Given the description of an element on the screen output the (x, y) to click on. 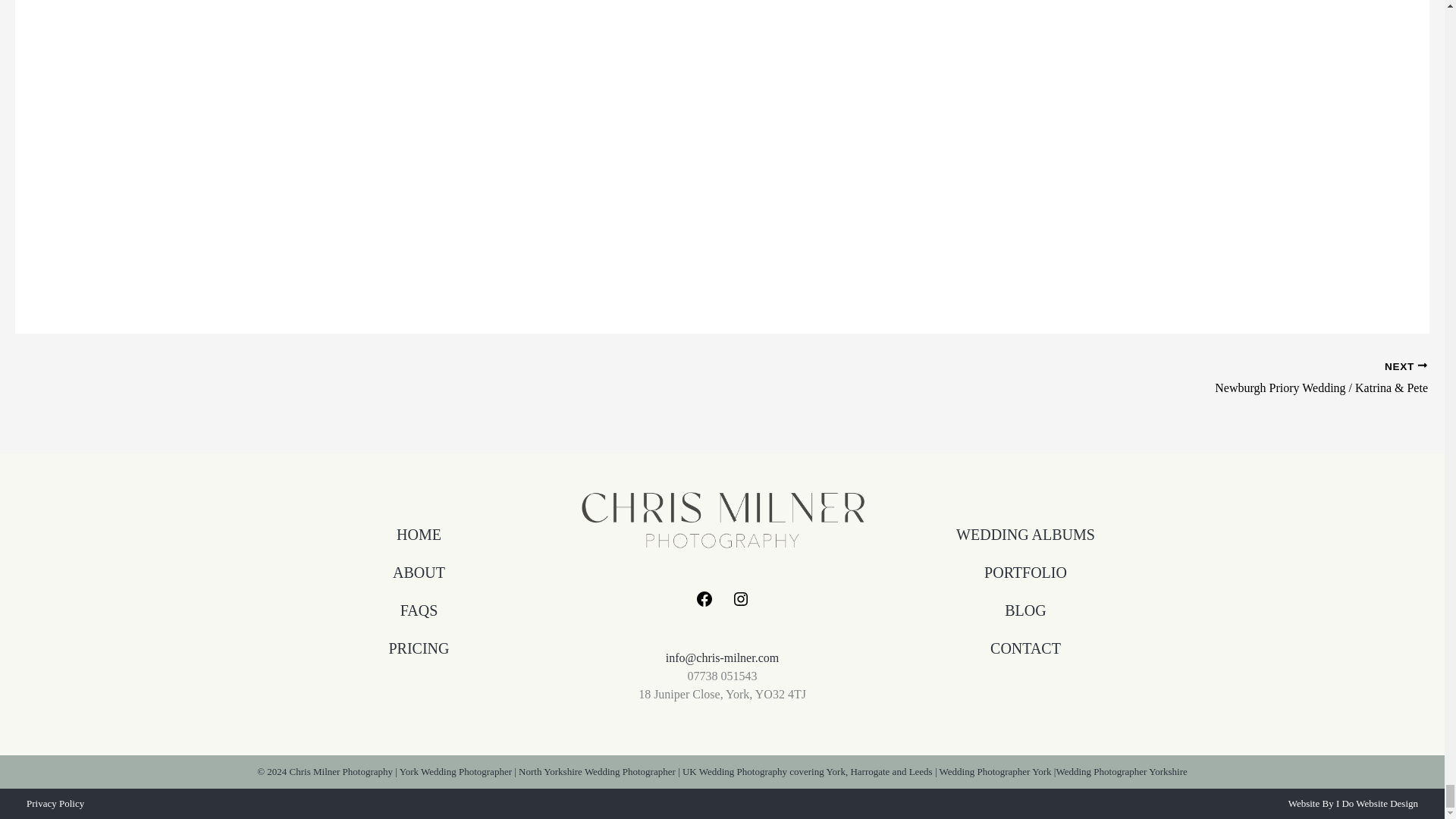
WEDDING ALBUMS (1025, 534)
HOME (418, 534)
ABOUT (419, 572)
PORTFOLIO (1025, 572)
PRICING (418, 647)
FAQS (419, 610)
Instagram (739, 603)
Facebook (703, 603)
